Given the description of an element on the screen output the (x, y) to click on. 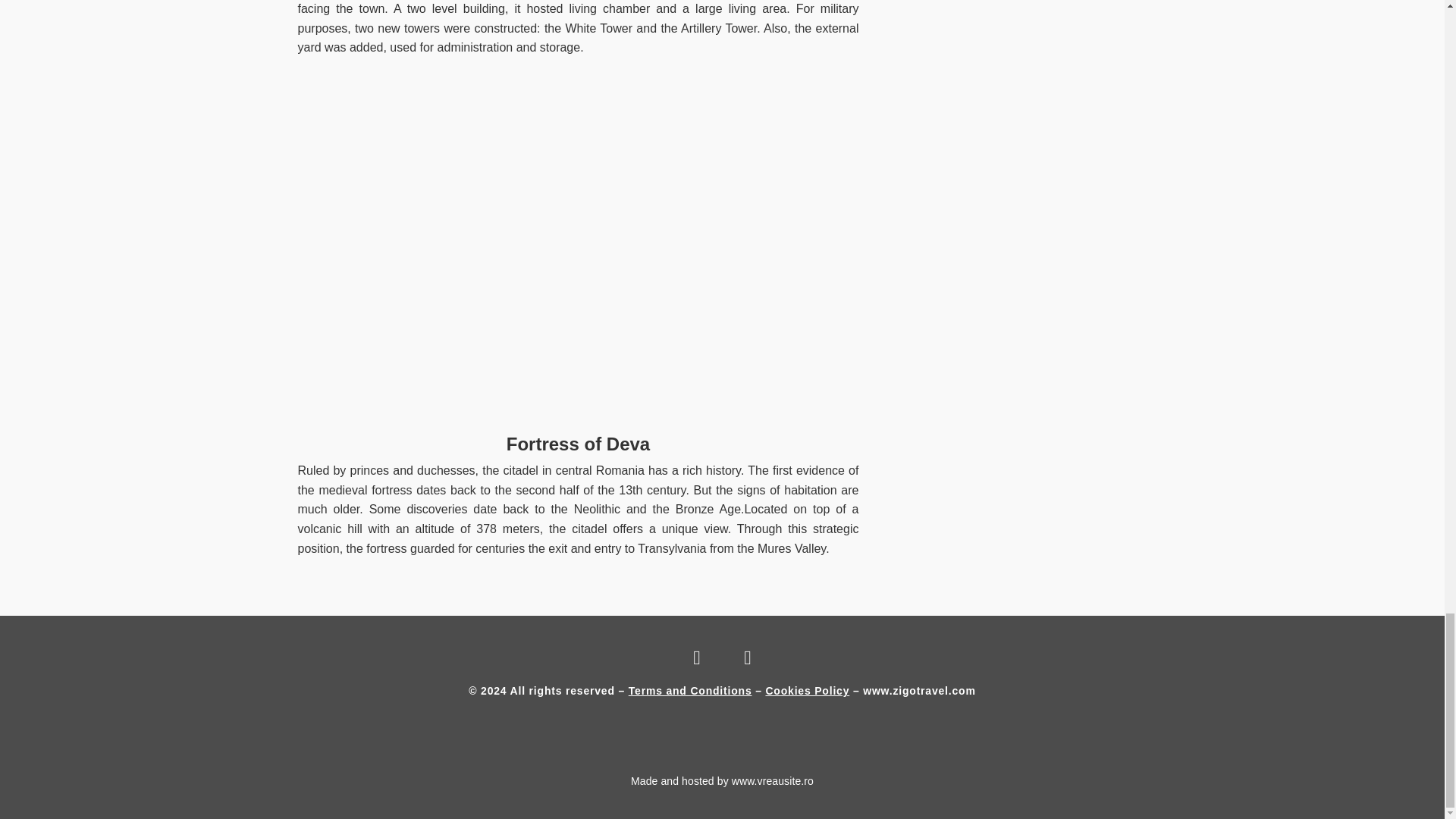
Terms and Conditions (690, 690)
Cookies Policy (806, 690)
